Given the description of an element on the screen output the (x, y) to click on. 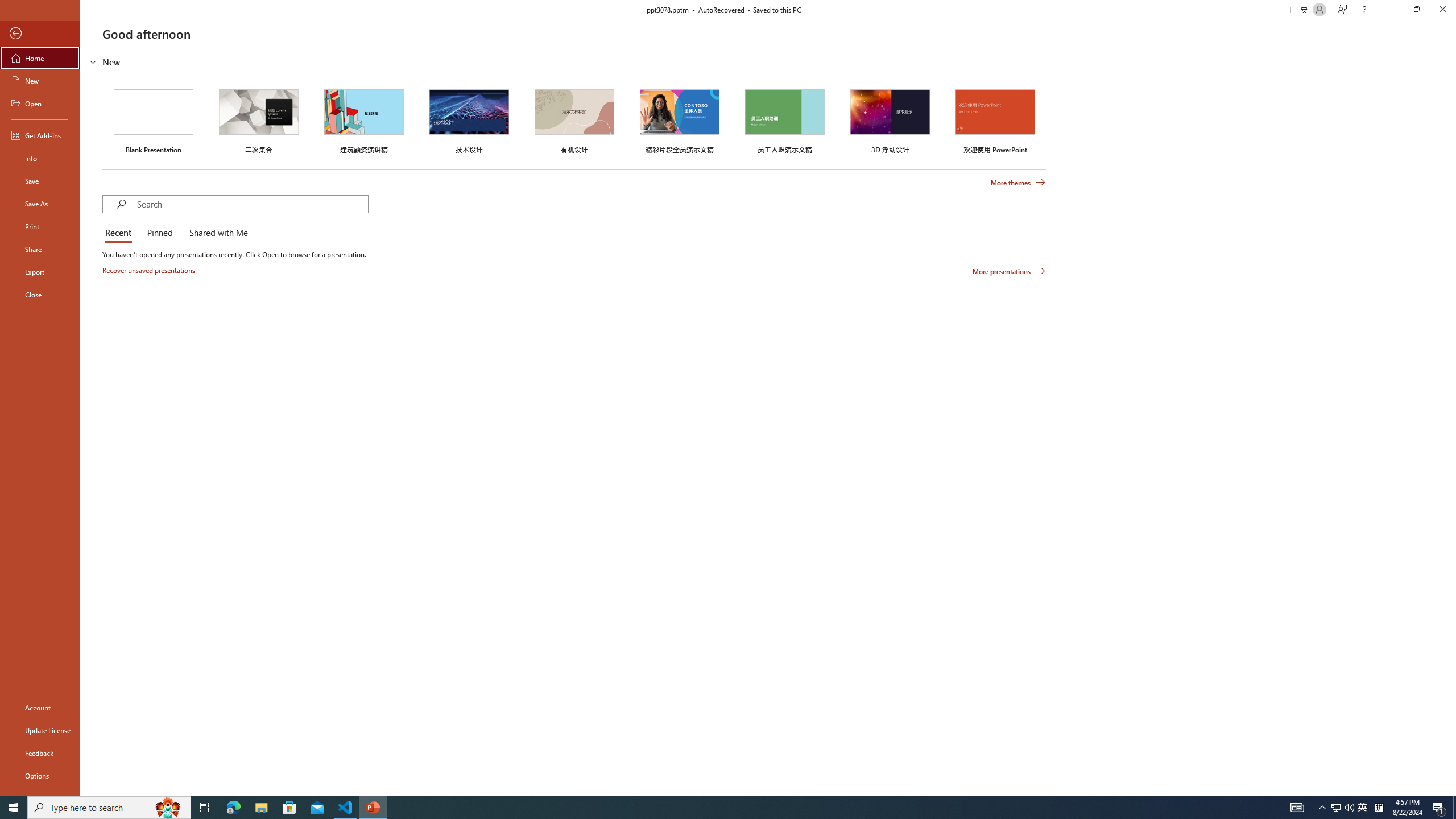
Info (40, 157)
Options (40, 775)
Blank Presentation (153, 119)
More presentations (1008, 270)
Update License (40, 730)
Print (40, 225)
Get Add-ins (40, 134)
Pinned (159, 233)
Recover unsaved presentations (149, 270)
More themes (1018, 182)
